Given the description of an element on the screen output the (x, y) to click on. 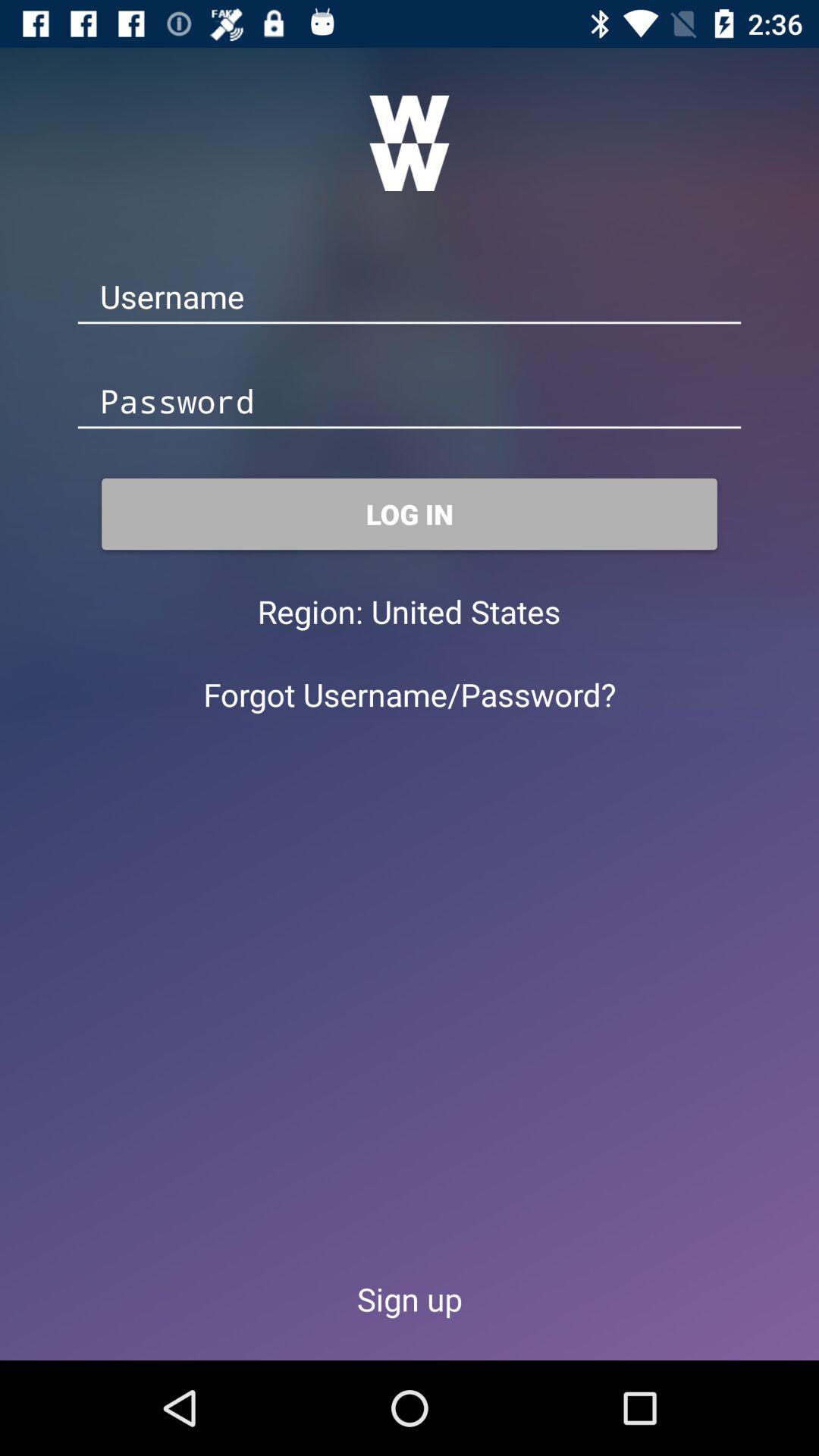
flip to the forgot username/password? icon (409, 694)
